Given the description of an element on the screen output the (x, y) to click on. 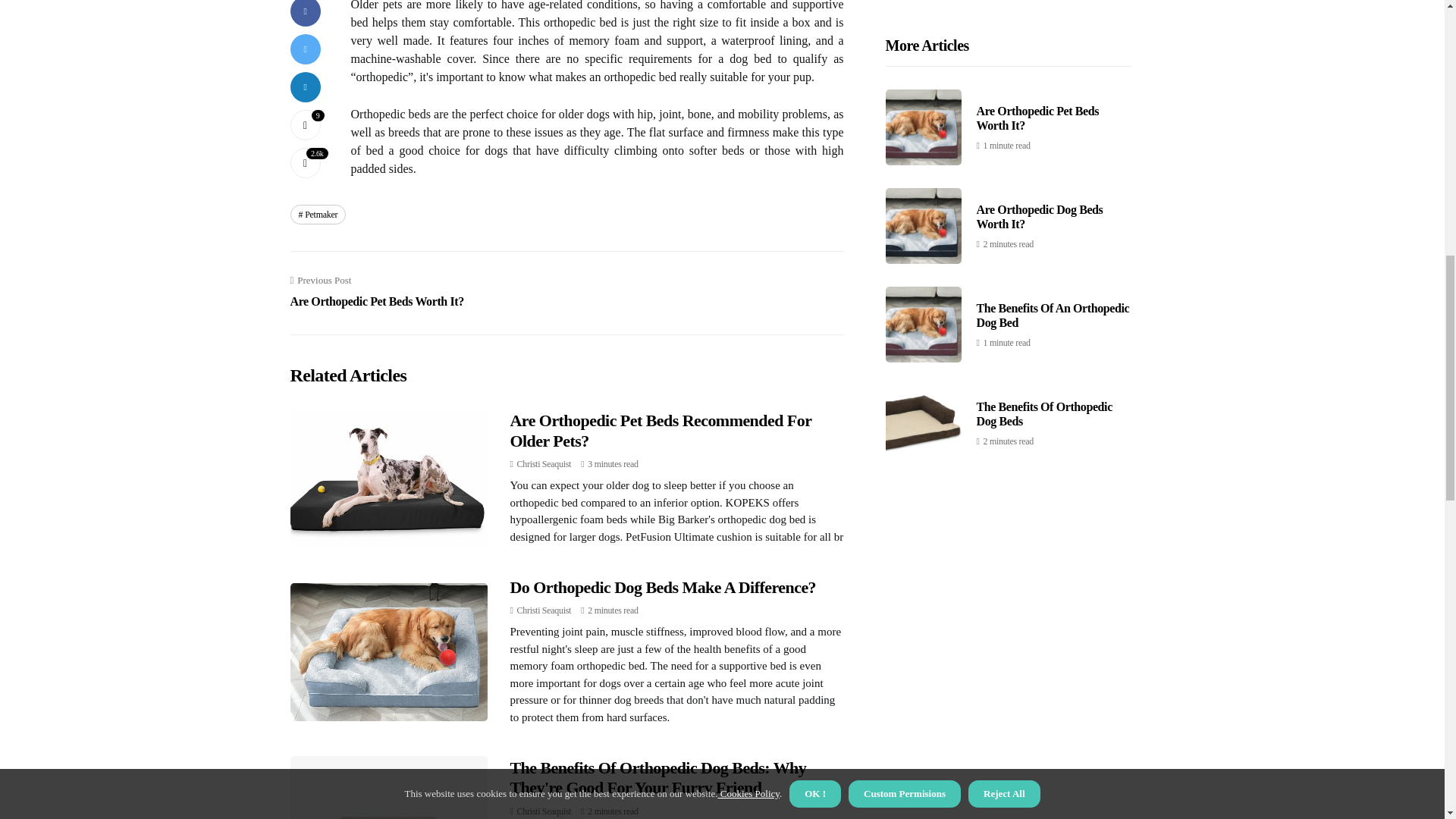
Posts by Christi Seaquist (376, 291)
Do Orthopedic Dog Beds Make A Difference? (544, 610)
Posts by Christi Seaquist (662, 587)
Christi Seaquist (544, 463)
Posts by Christi Seaquist (544, 463)
Christi Seaquist (544, 810)
Are Orthopedic Pet Beds Recommended For Older Pets? (544, 610)
Petmaker (659, 430)
Christi Seaquist (317, 214)
